Given the description of an element on the screen output the (x, y) to click on. 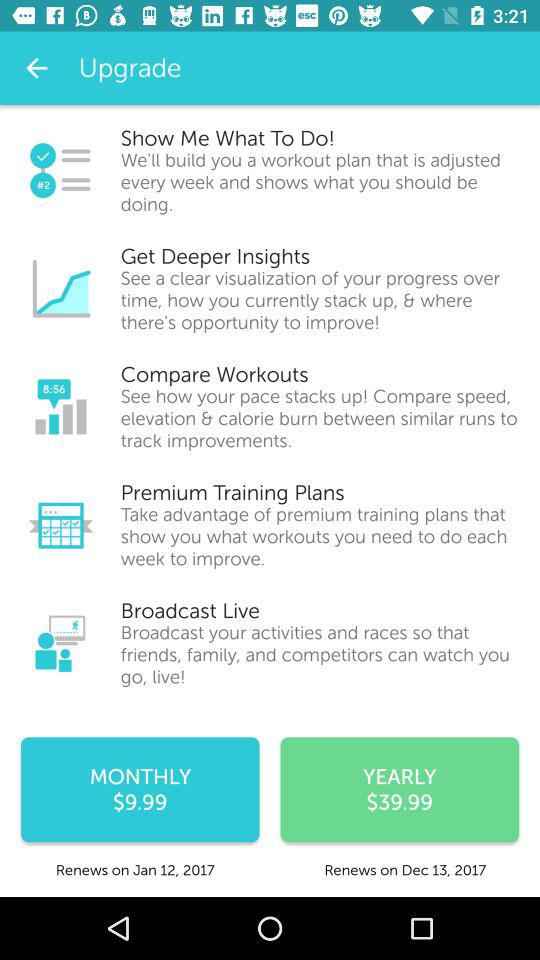
select the icon next to upgrade item (36, 68)
